Given the description of an element on the screen output the (x, y) to click on. 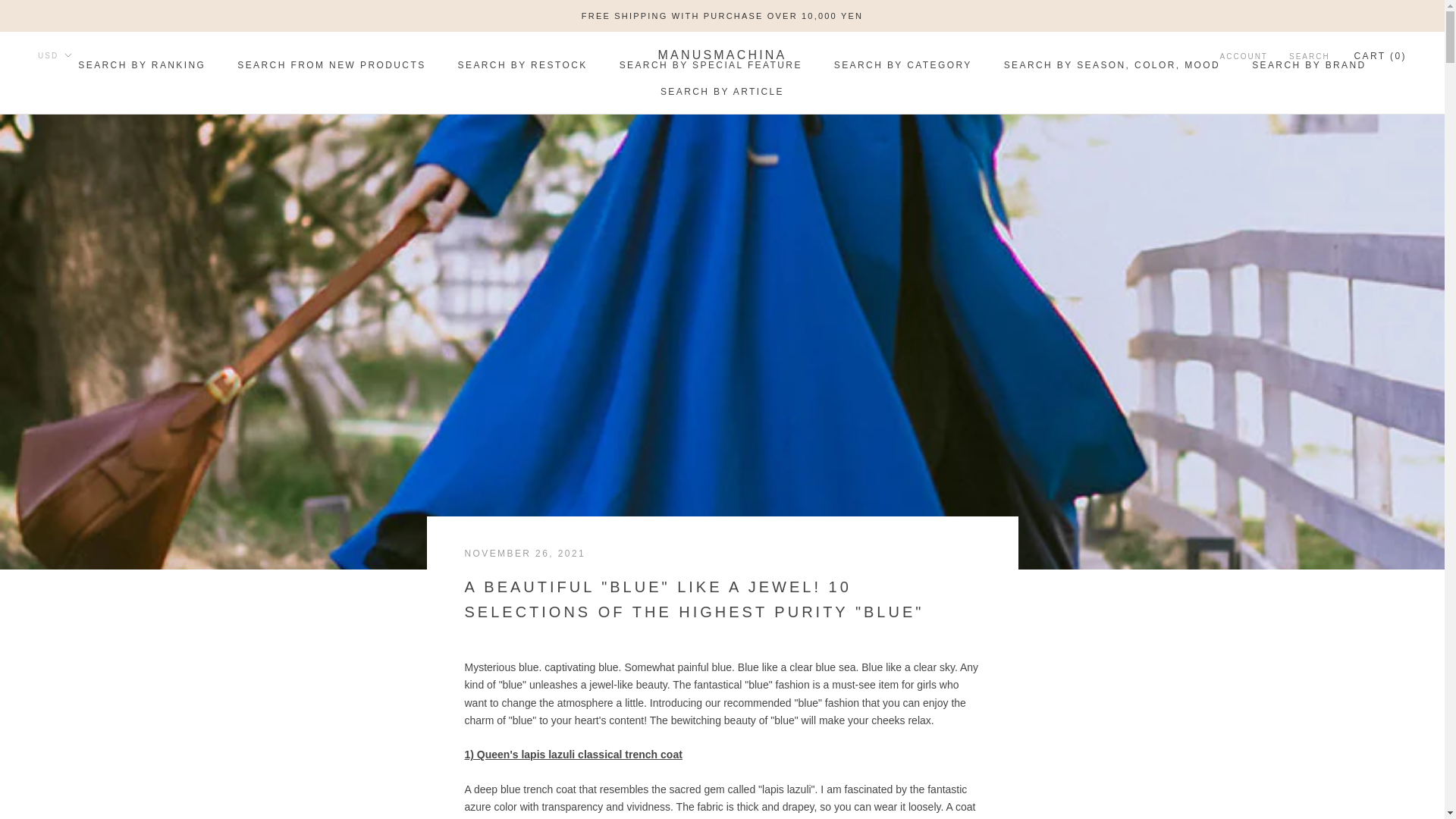
Currency selector (54, 55)
